Given the description of an element on the screen output the (x, y) to click on. 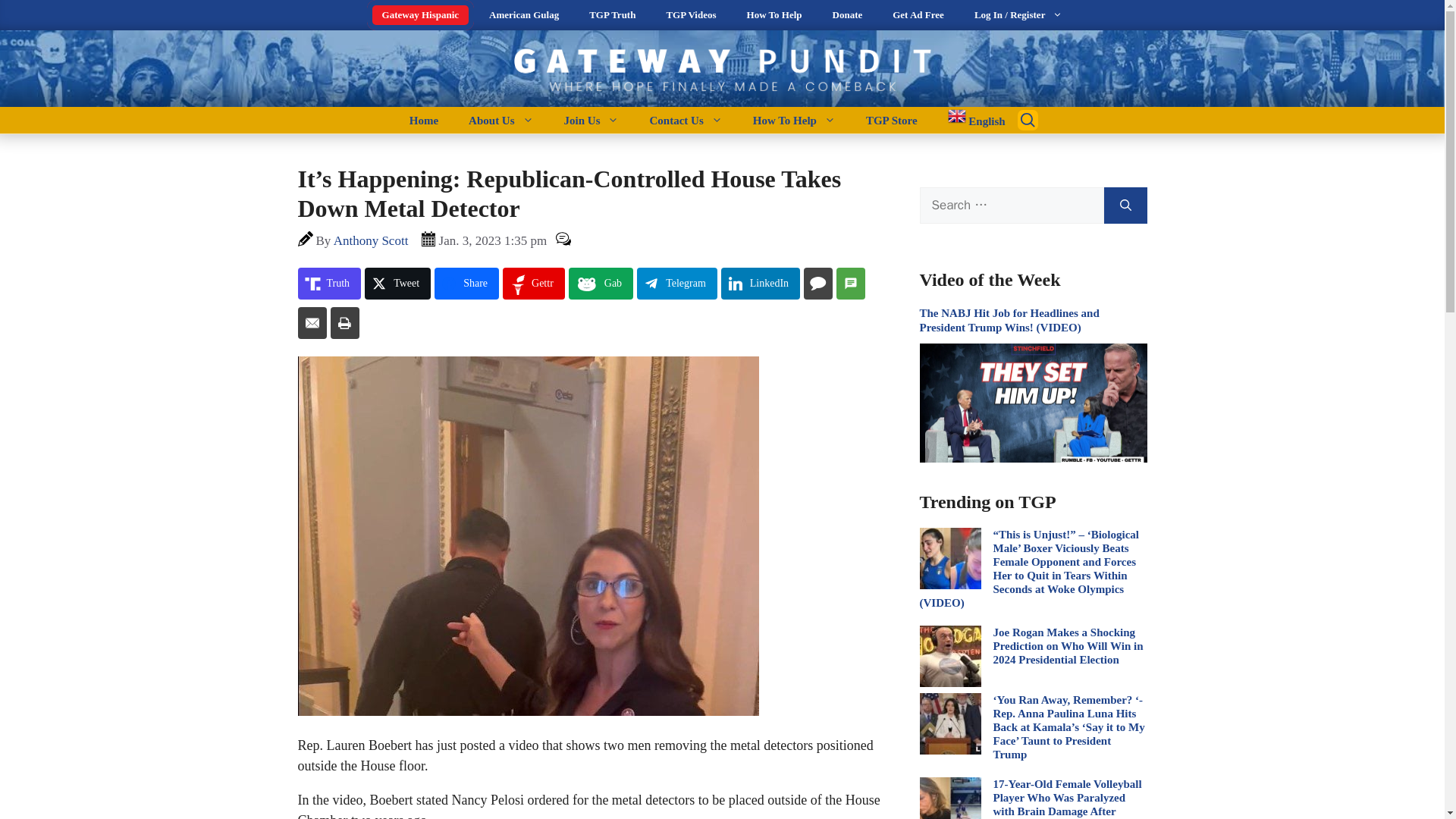
Home (423, 120)
Contact Us (684, 120)
Donate (846, 15)
Share on Telegram (677, 283)
How To Help (774, 15)
Share on Share (466, 283)
English (969, 120)
Share on Tweet (397, 283)
How To Help (794, 120)
Join Us (591, 120)
